Given the description of an element on the screen output the (x, y) to click on. 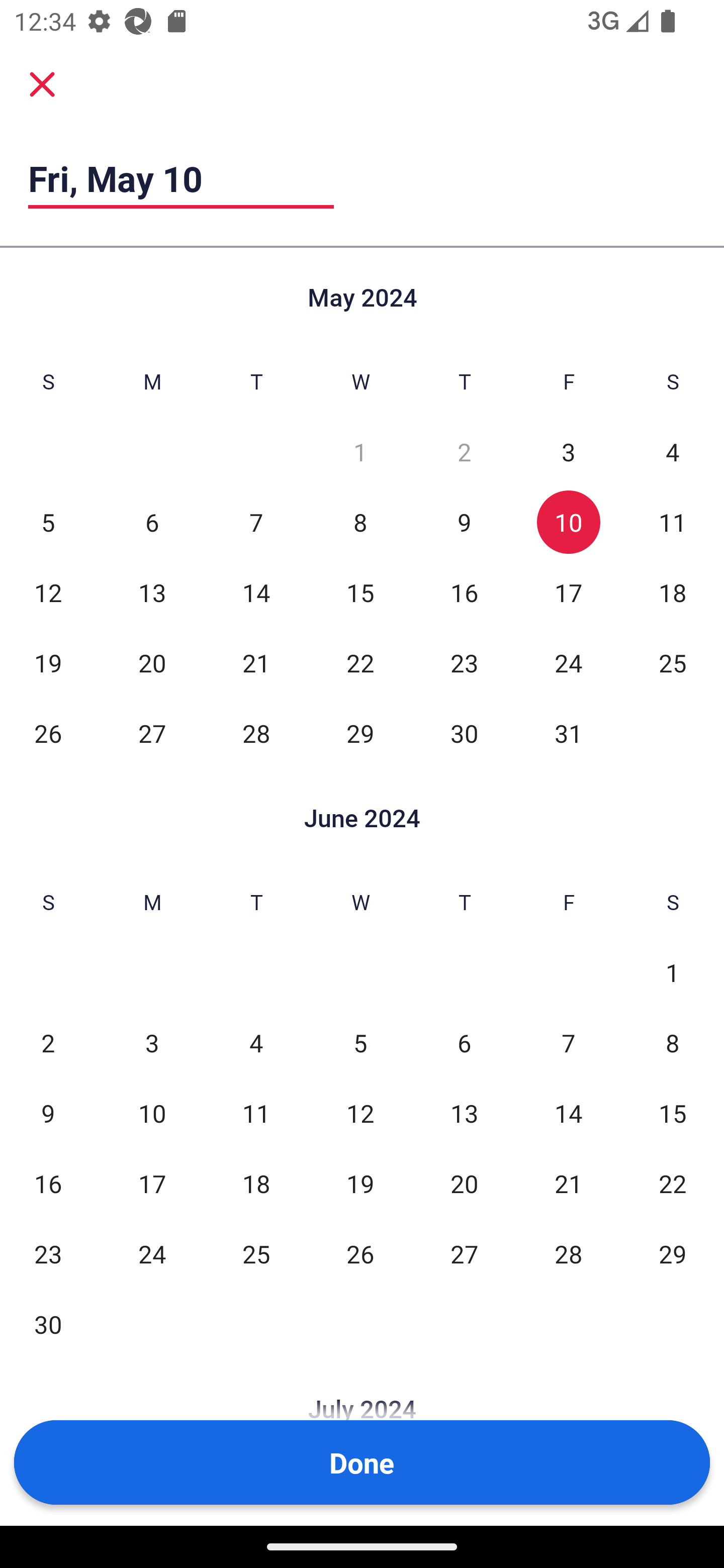
Cancel (42, 84)
Fri, May 10 (180, 178)
1 Wed, May 1, Not Selected (360, 452)
2 Thu, May 2, Not Selected (464, 452)
3 Fri, May 3, Not Selected (568, 452)
4 Sat, May 4, Not Selected (672, 452)
5 Sun, May 5, Not Selected (48, 521)
6 Mon, May 6, Not Selected (152, 521)
7 Tue, May 7, Not Selected (256, 521)
8 Wed, May 8, Not Selected (360, 521)
9 Thu, May 9, Not Selected (464, 521)
10 Fri, May 10, Selected (568, 521)
11 Sat, May 11, Not Selected (672, 521)
12 Sun, May 12, Not Selected (48, 591)
13 Mon, May 13, Not Selected (152, 591)
14 Tue, May 14, Not Selected (256, 591)
15 Wed, May 15, Not Selected (360, 591)
16 Thu, May 16, Not Selected (464, 591)
17 Fri, May 17, Not Selected (568, 591)
18 Sat, May 18, Not Selected (672, 591)
19 Sun, May 19, Not Selected (48, 662)
20 Mon, May 20, Not Selected (152, 662)
21 Tue, May 21, Not Selected (256, 662)
22 Wed, May 22, Not Selected (360, 662)
23 Thu, May 23, Not Selected (464, 662)
24 Fri, May 24, Not Selected (568, 662)
25 Sat, May 25, Not Selected (672, 662)
26 Sun, May 26, Not Selected (48, 732)
27 Mon, May 27, Not Selected (152, 732)
28 Tue, May 28, Not Selected (256, 732)
29 Wed, May 29, Not Selected (360, 732)
30 Thu, May 30, Not Selected (464, 732)
31 Fri, May 31, Not Selected (568, 732)
1 Sat, Jun 1, Not Selected (672, 972)
2 Sun, Jun 2, Not Selected (48, 1043)
3 Mon, Jun 3, Not Selected (152, 1043)
4 Tue, Jun 4, Not Selected (256, 1043)
5 Wed, Jun 5, Not Selected (360, 1043)
6 Thu, Jun 6, Not Selected (464, 1043)
7 Fri, Jun 7, Not Selected (568, 1043)
8 Sat, Jun 8, Not Selected (672, 1043)
9 Sun, Jun 9, Not Selected (48, 1112)
10 Mon, Jun 10, Not Selected (152, 1112)
11 Tue, Jun 11, Not Selected (256, 1112)
12 Wed, Jun 12, Not Selected (360, 1112)
13 Thu, Jun 13, Not Selected (464, 1112)
14 Fri, Jun 14, Not Selected (568, 1112)
15 Sat, Jun 15, Not Selected (672, 1112)
16 Sun, Jun 16, Not Selected (48, 1182)
17 Mon, Jun 17, Not Selected (152, 1182)
18 Tue, Jun 18, Not Selected (256, 1182)
19 Wed, Jun 19, Not Selected (360, 1182)
20 Thu, Jun 20, Not Selected (464, 1182)
21 Fri, Jun 21, Not Selected (568, 1182)
22 Sat, Jun 22, Not Selected (672, 1182)
23 Sun, Jun 23, Not Selected (48, 1253)
24 Mon, Jun 24, Not Selected (152, 1253)
25 Tue, Jun 25, Not Selected (256, 1253)
26 Wed, Jun 26, Not Selected (360, 1253)
27 Thu, Jun 27, Not Selected (464, 1253)
28 Fri, Jun 28, Not Selected (568, 1253)
29 Sat, Jun 29, Not Selected (672, 1253)
30 Sun, Jun 30, Not Selected (48, 1323)
Done Button Done (361, 1462)
